Given the description of an element on the screen output the (x, y) to click on. 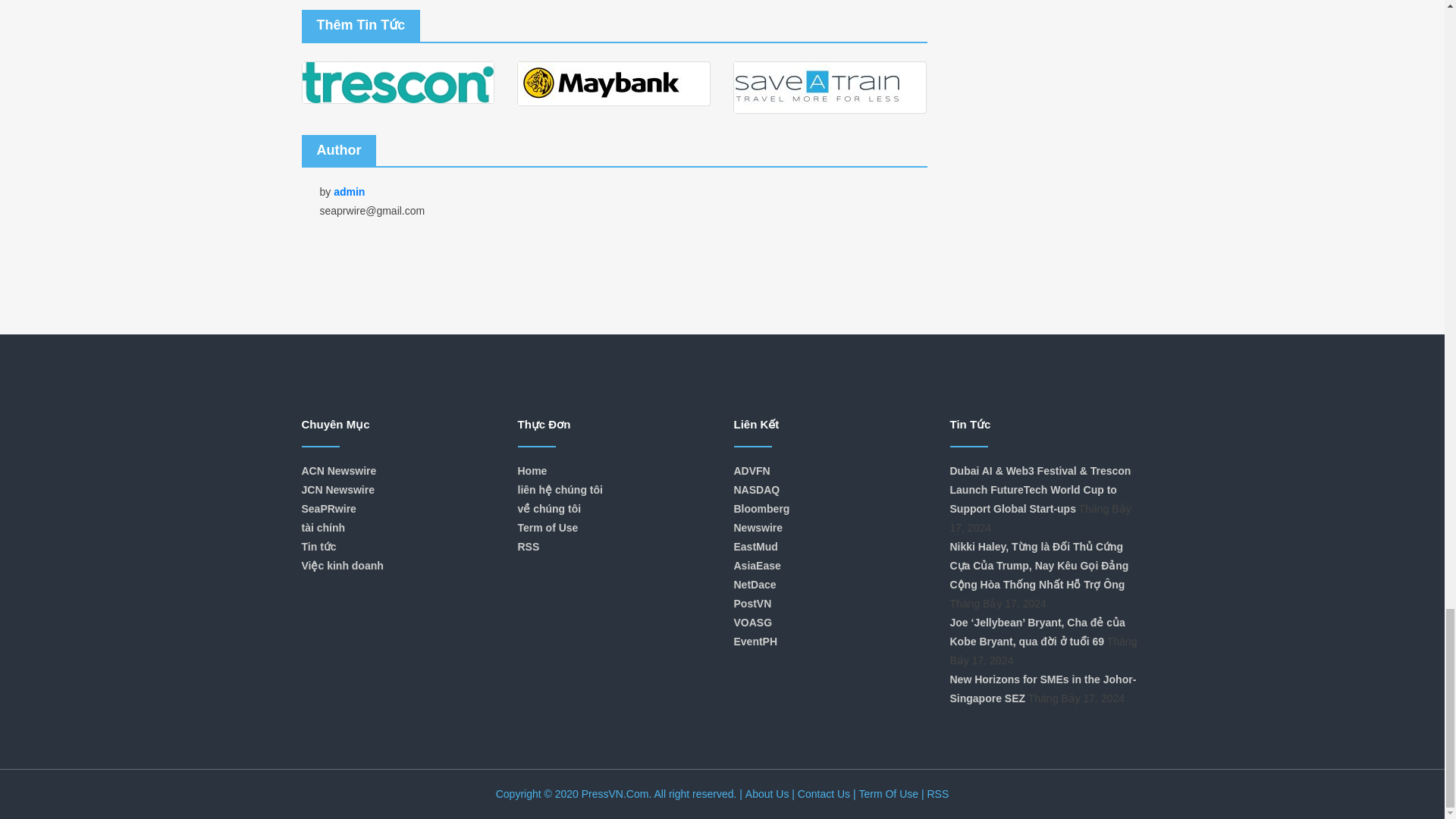
admin (350, 191)
